Given the description of an element on the screen output the (x, y) to click on. 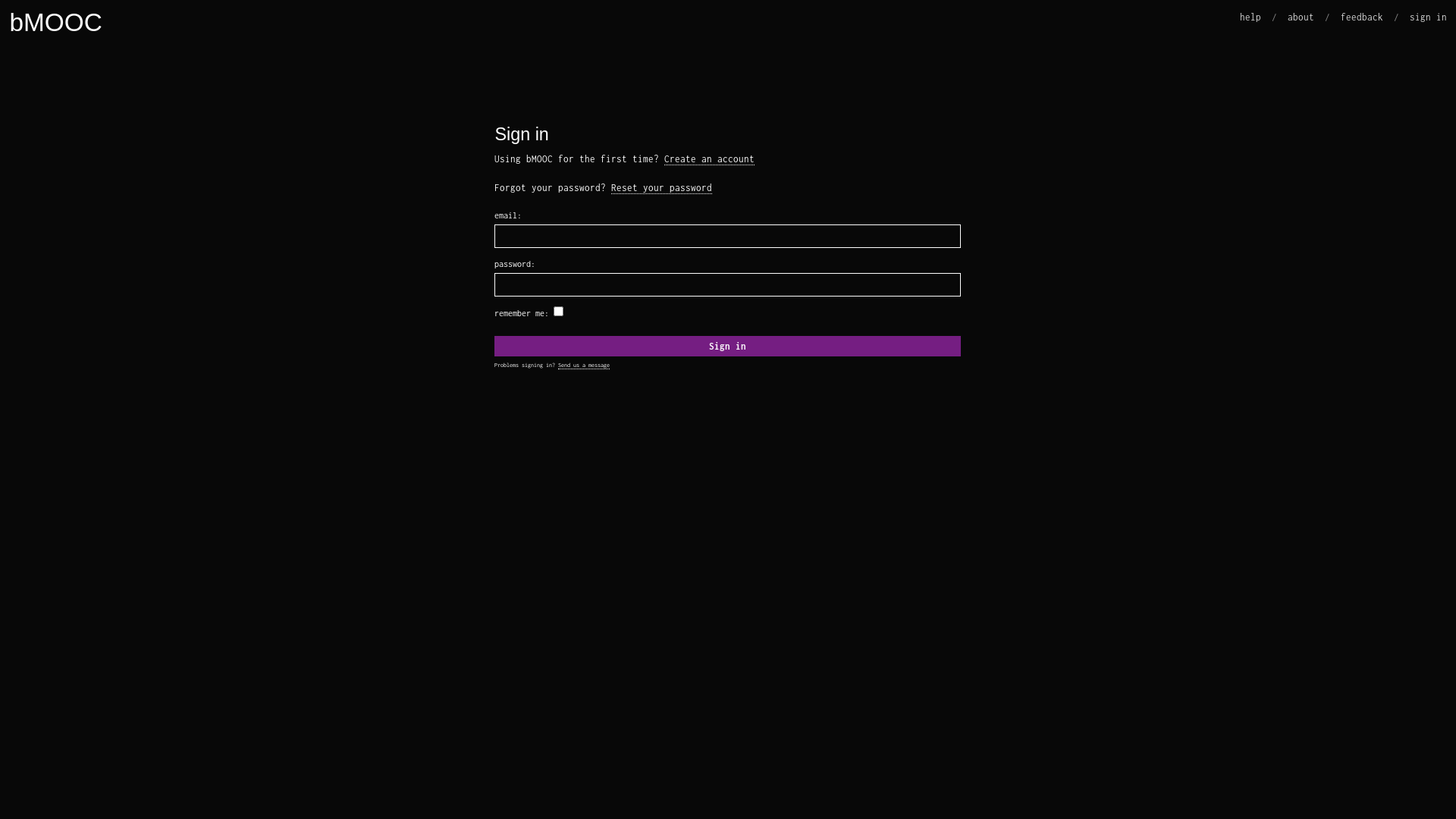
bMOOC Element type: text (55, 22)
about Element type: text (1300, 17)
feedback Element type: text (1361, 17)
Reset your password Element type: text (661, 188)
sign in Element type: text (1427, 17)
Send us a message Element type: text (583, 365)
Sign in Element type: text (727, 345)
help Element type: text (1249, 17)
Create an account Element type: text (709, 159)
